Given the description of an element on the screen output the (x, y) to click on. 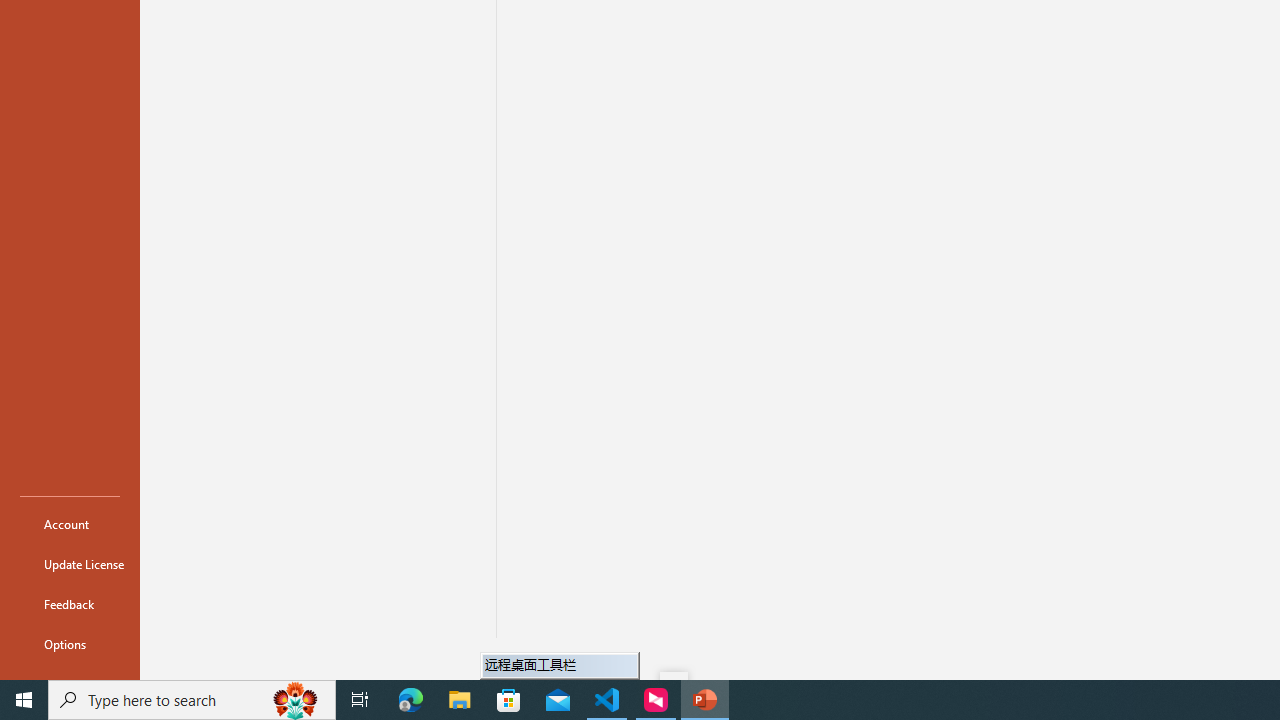
Feedback (69, 603)
Update License (69, 563)
Account (69, 523)
Options (69, 643)
